Given the description of an element on the screen output the (x, y) to click on. 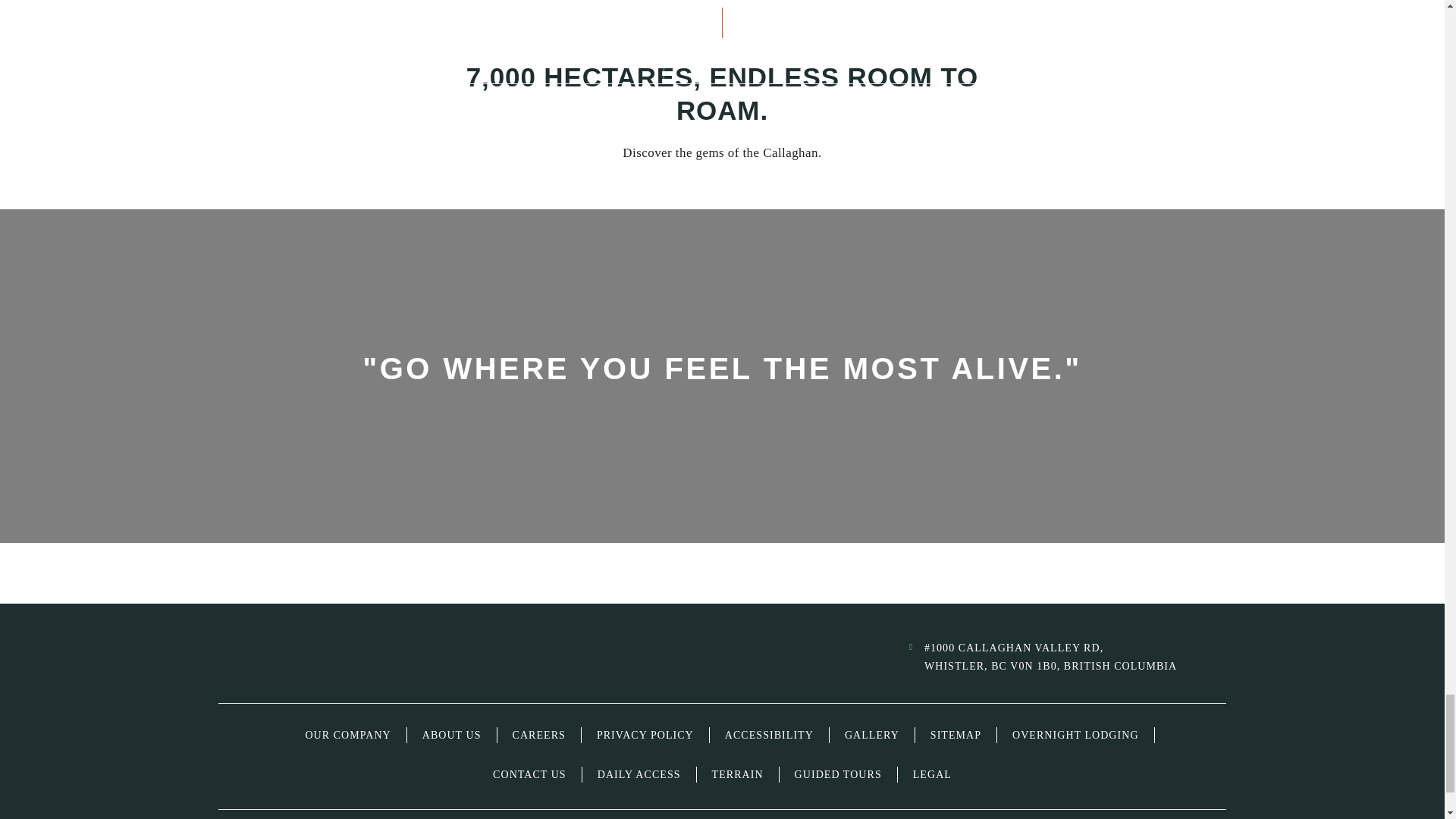
Callaghan Country Logo (376, 656)
